Given the description of an element on the screen output the (x, y) to click on. 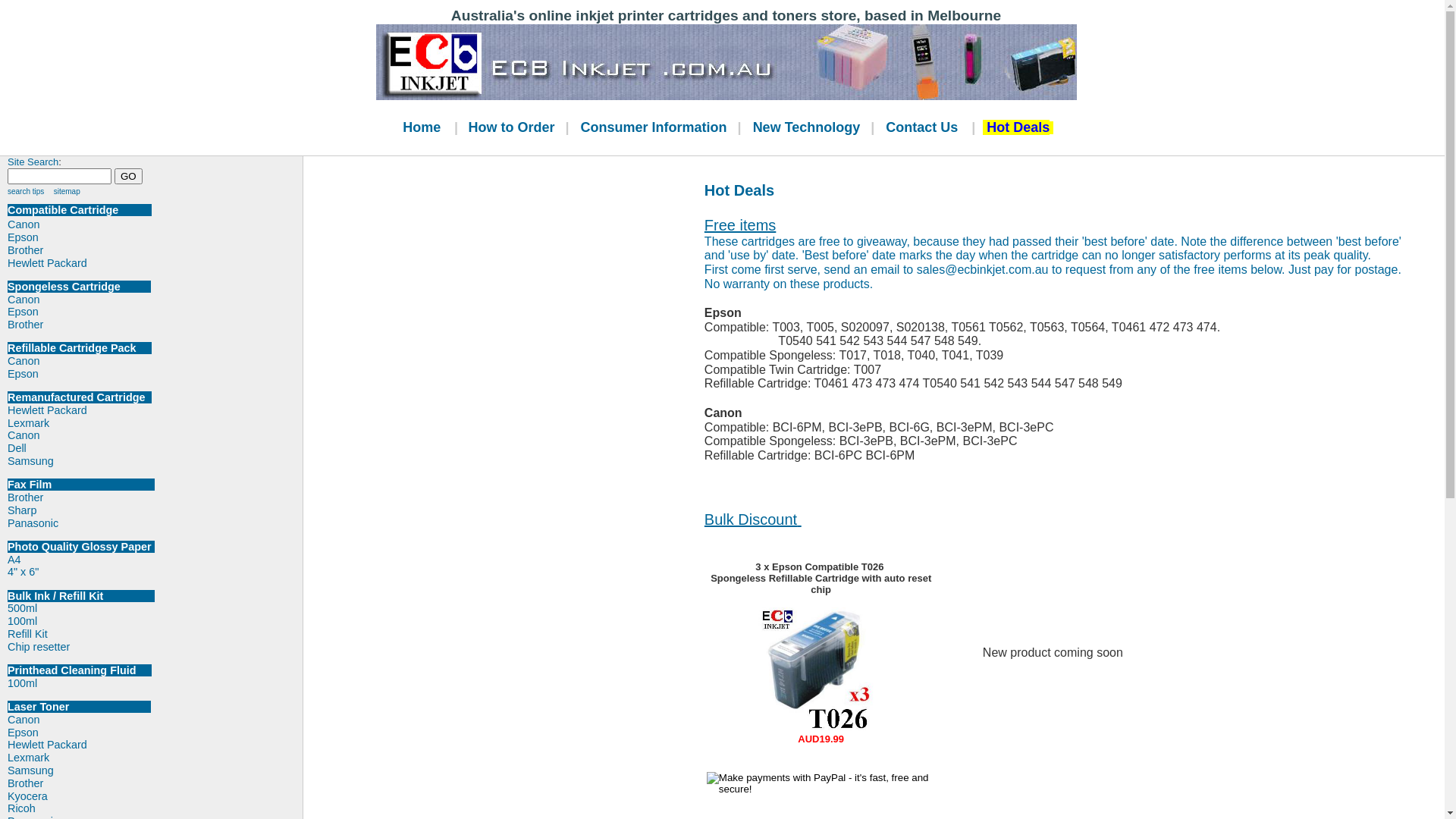
Brother Element type: text (154, 250)
4" x 6" Element type: text (22, 571)
Epson Element type: text (22, 732)
100ml Element type: text (22, 621)
Contact Us Element type: text (922, 128)
Brother Element type: text (25, 497)
Lexmark Element type: text (28, 757)
sales@ecbinkjet.com.au Element type: text (982, 269)
Epson Element type: text (22, 373)
Ricoh Element type: text (21, 808)
Epson Element type: text (154, 237)
Canon Element type: text (23, 435)
Hewlett Packard Element type: text (47, 744)
How to Order Element type: text (513, 128)
Brother Element type: text (25, 324)
GO Element type: text (128, 176)
sitemap Element type: text (66, 191)
Kyocera Element type: text (27, 796)
Canon Element type: text (154, 224)
Hewlett Packard Element type: text (154, 263)
Panasonic Element type: text (32, 523)
Samsung Element type: text (30, 770)
New Technology Element type: text (808, 128)
100ml Element type: text (22, 683)
Lexmark Element type: text (28, 423)
Refill Kit Element type: text (27, 633)
Canon Element type: text (23, 360)
Canon Element type: text (23, 719)
Hewlett Packard Element type: text (47, 410)
search tips Element type: text (25, 191)
Dell Element type: text (16, 448)
Samsung Element type: text (30, 461)
Brother Element type: text (25, 783)
A4 Element type: text (14, 559)
Epson Element type: text (22, 311)
Sharp Element type: text (21, 510)
Consumer Information Element type: text (655, 128)
Chip resetter Element type: text (38, 646)
500ml Element type: text (22, 608)
Home Element type: text (422, 128)
Site Search Element type: text (32, 161)
Canon Element type: text (23, 298)
